Given the description of an element on the screen output the (x, y) to click on. 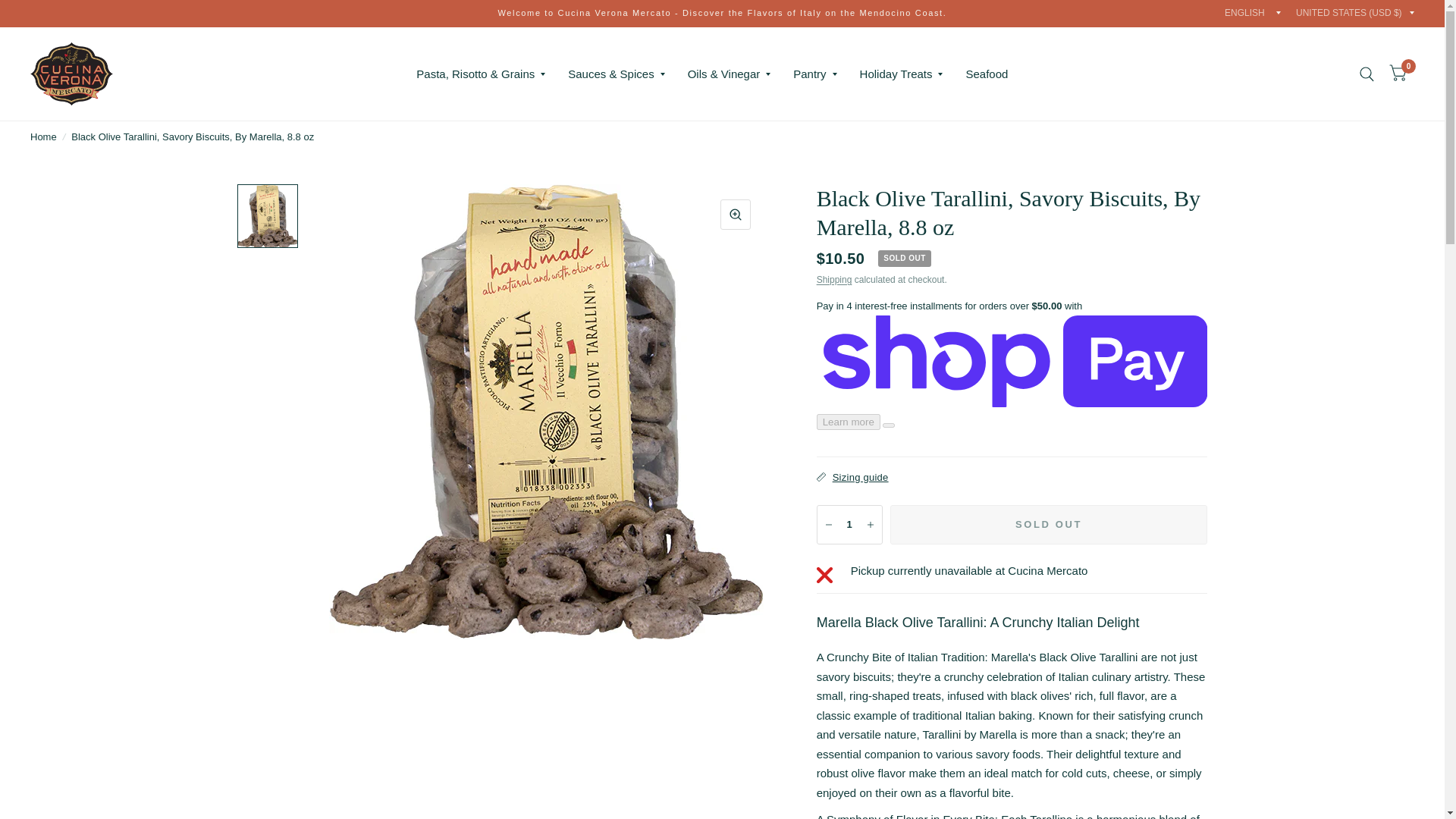
Holiday Treats (901, 73)
Pantry (814, 73)
